Given the description of an element on the screen output the (x, y) to click on. 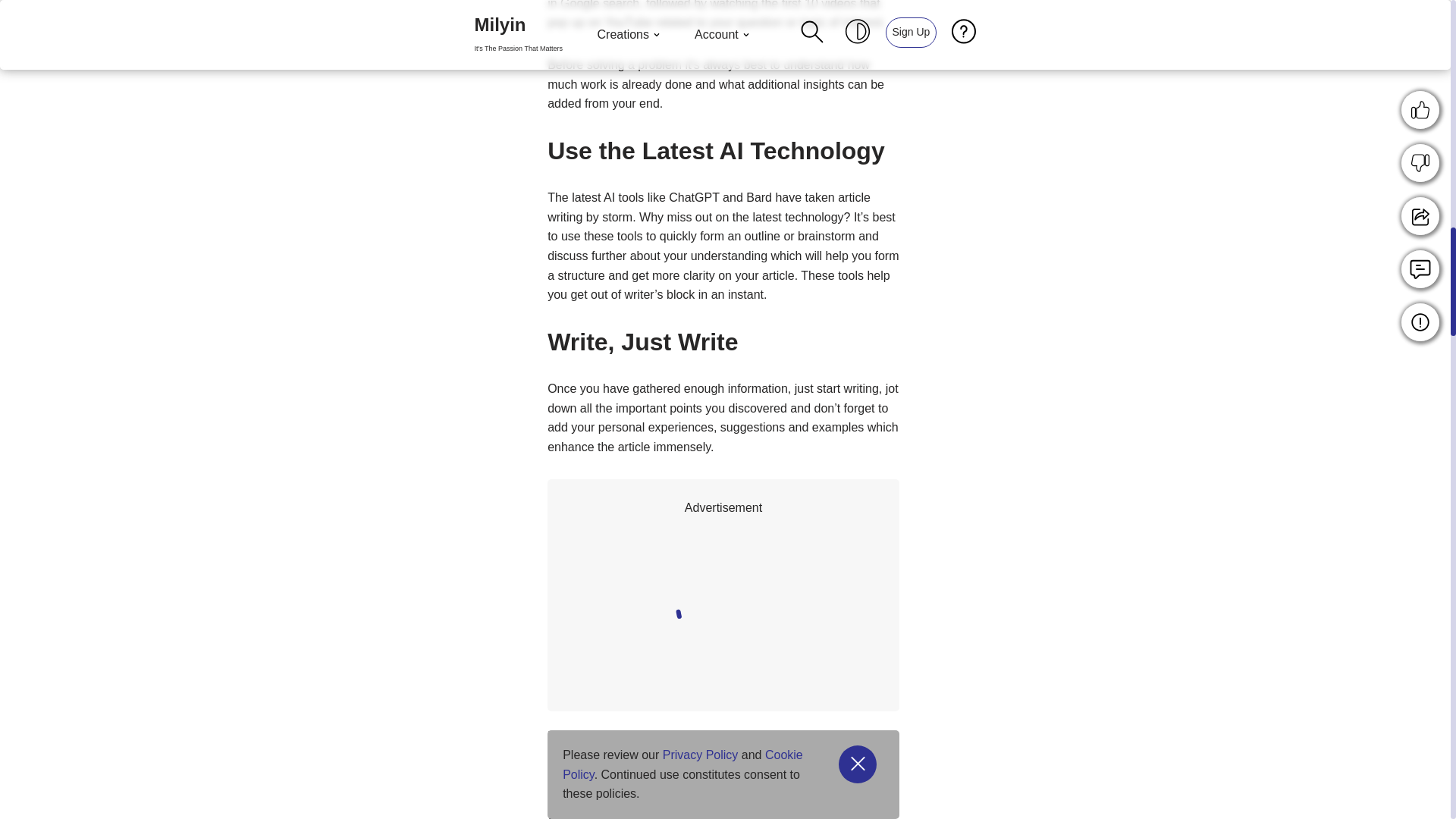
Advertisement (828, 617)
